Given the description of an element on the screen output the (x, y) to click on. 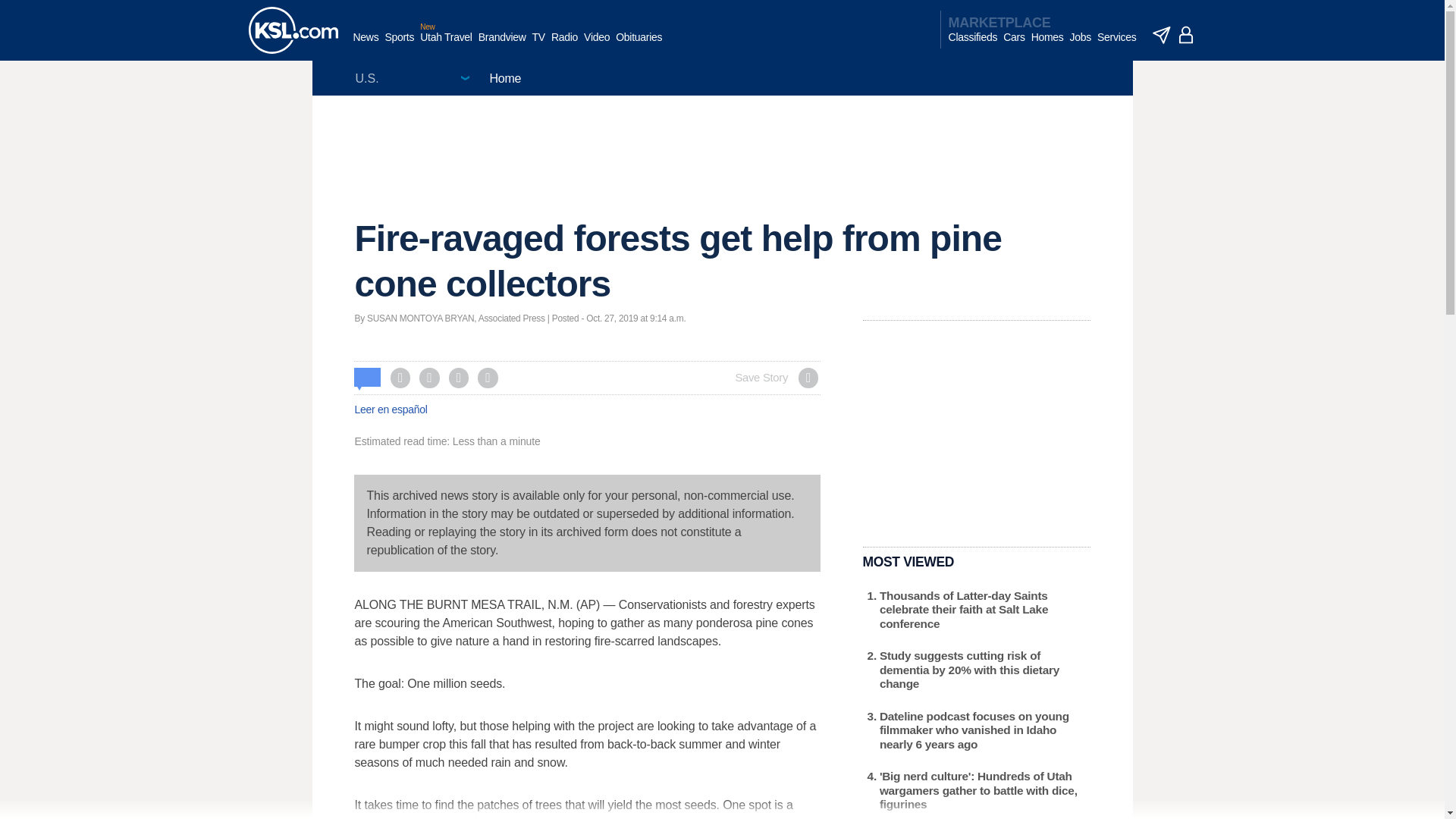
Sports (398, 45)
Brandview (502, 45)
Utah Travel (445, 45)
KSL homepage (292, 29)
account - logged out (1185, 34)
KSL homepage (292, 30)
